Given the description of an element on the screen output the (x, y) to click on. 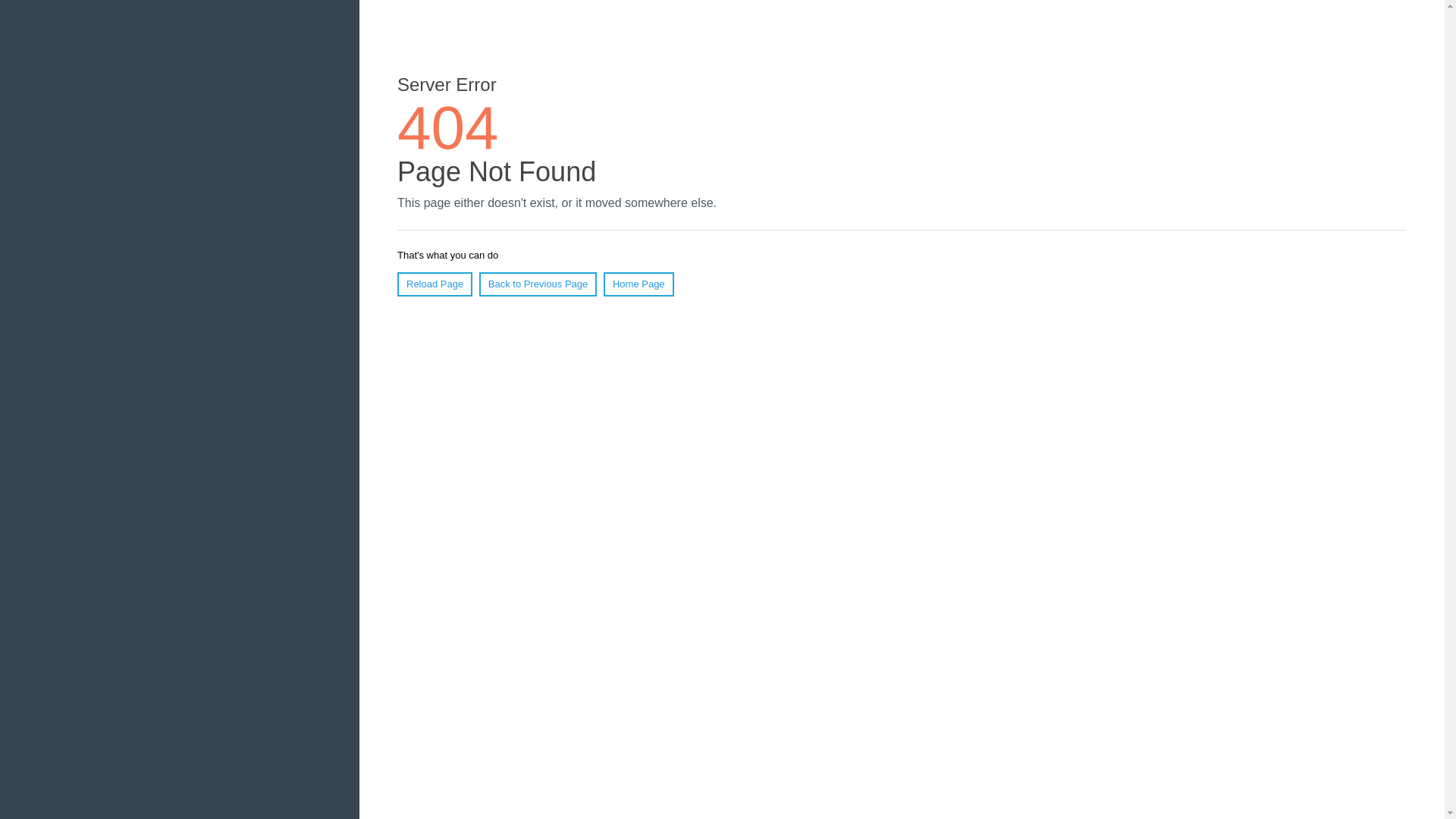
Back to Previous Page (537, 283)
Home Page (639, 283)
Reload Page (434, 283)
